Given the description of an element on the screen output the (x, y) to click on. 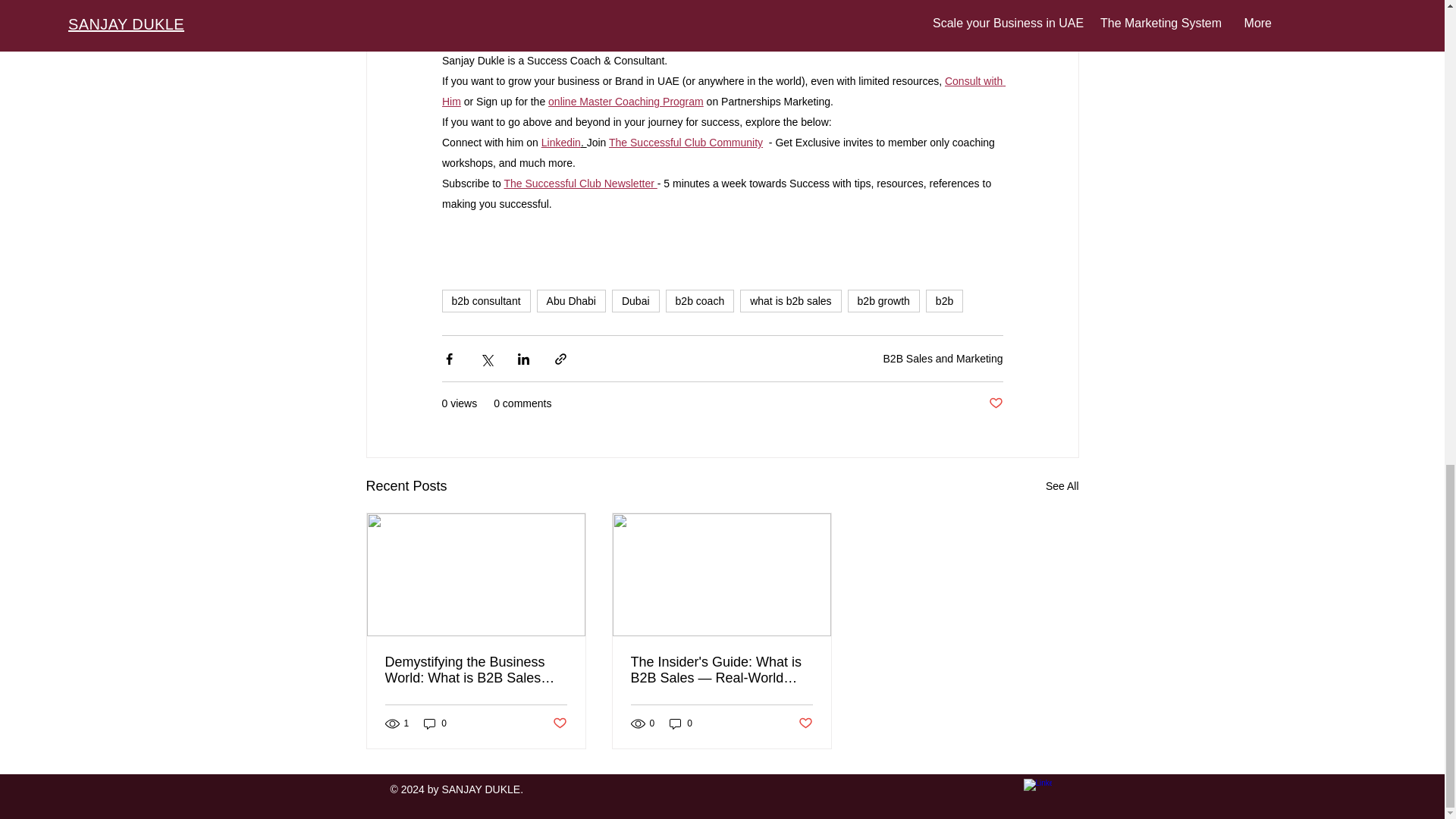
Linkedin (559, 141)
Consult with Him (722, 90)
b2b consultant (485, 300)
b2b coach (700, 300)
Abu Dhabi (571, 300)
Dubai (635, 300)
See All (1061, 486)
The Successful Club Newsletter  (579, 182)
B2B Sales and Marketing (943, 358)
Post not marked as liked (995, 403)
